Given the description of an element on the screen output the (x, y) to click on. 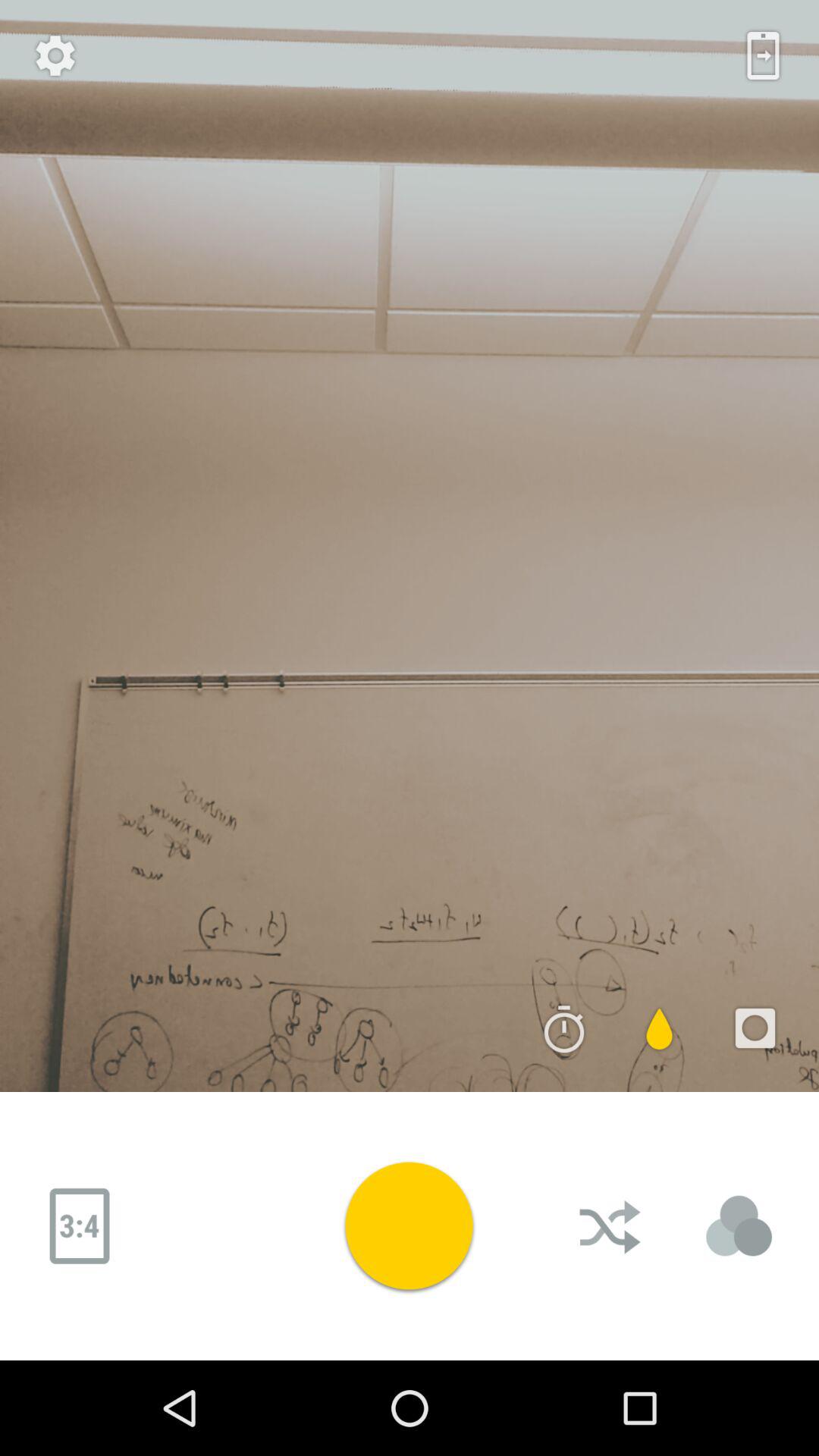
image size (79, 1226)
